Given the description of an element on the screen output the (x, y) to click on. 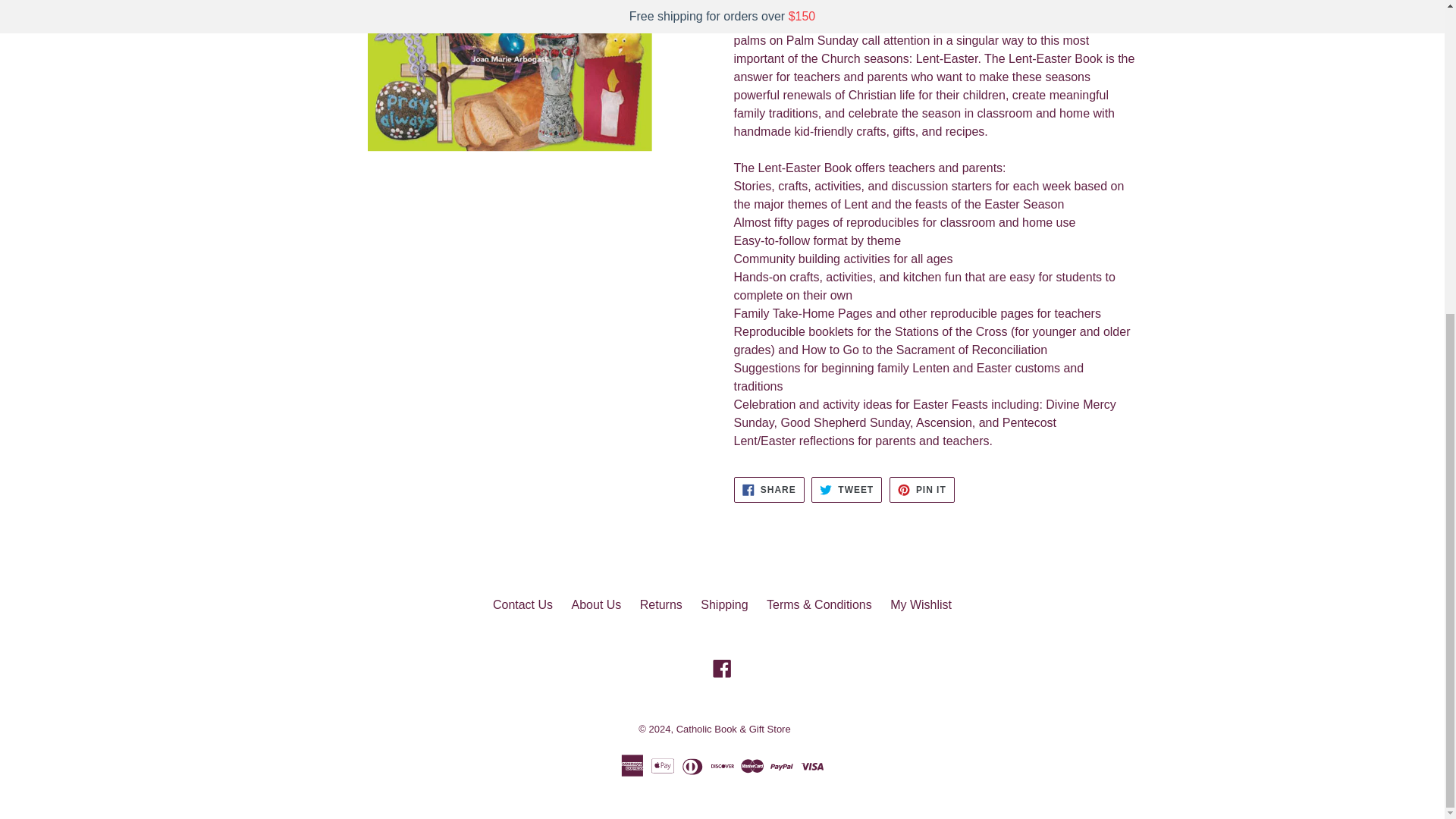
Tweet on Twitter (846, 489)
Share on Facebook (769, 489)
Pin on Pinterest (922, 489)
